Given the description of an element on the screen output the (x, y) to click on. 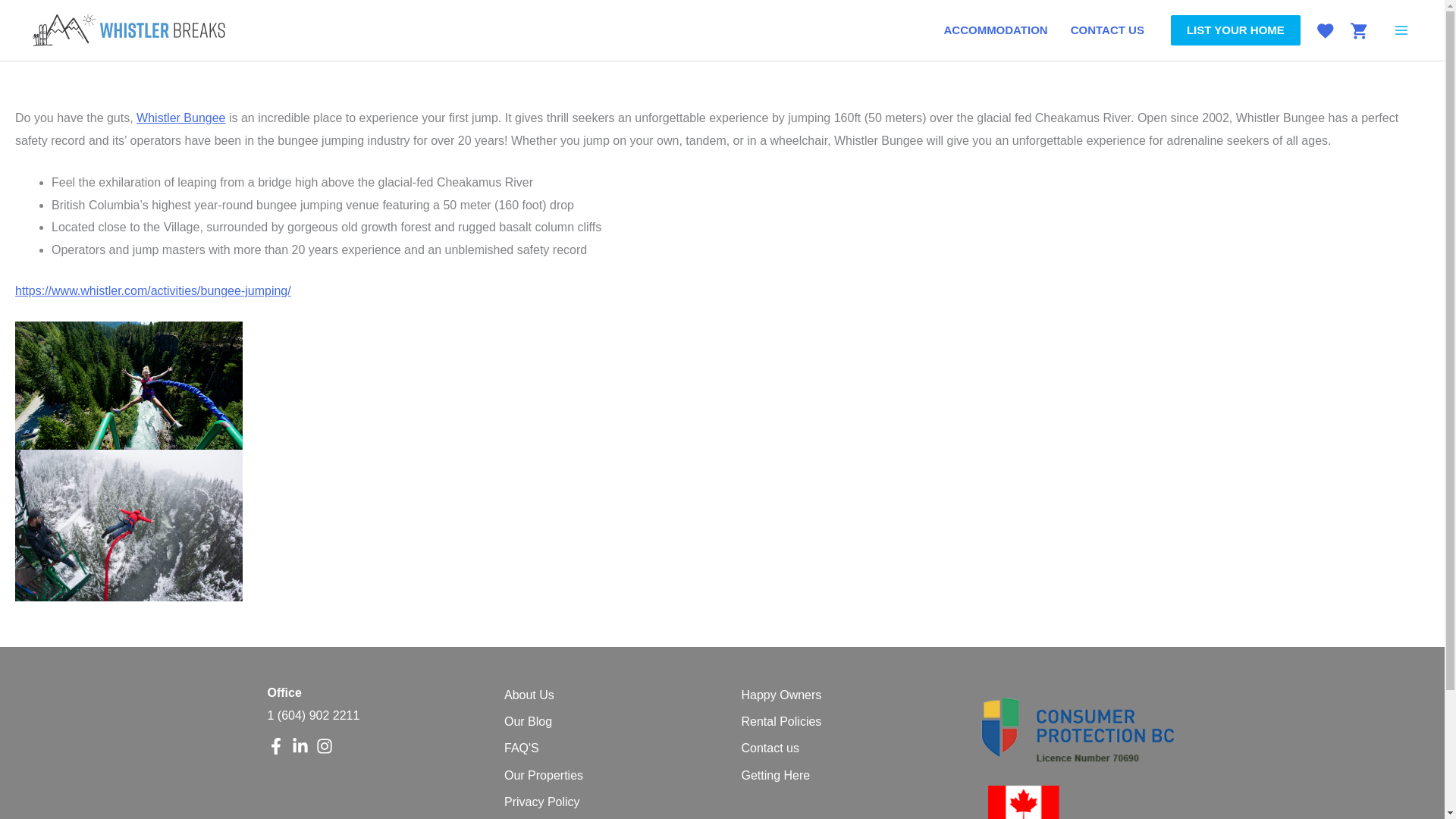
Whistler Bungee (180, 117)
CONTACT US (1107, 30)
LIST YOUR HOME (1235, 30)
ACCOMMODATION (994, 30)
